Given the description of an element on the screen output the (x, y) to click on. 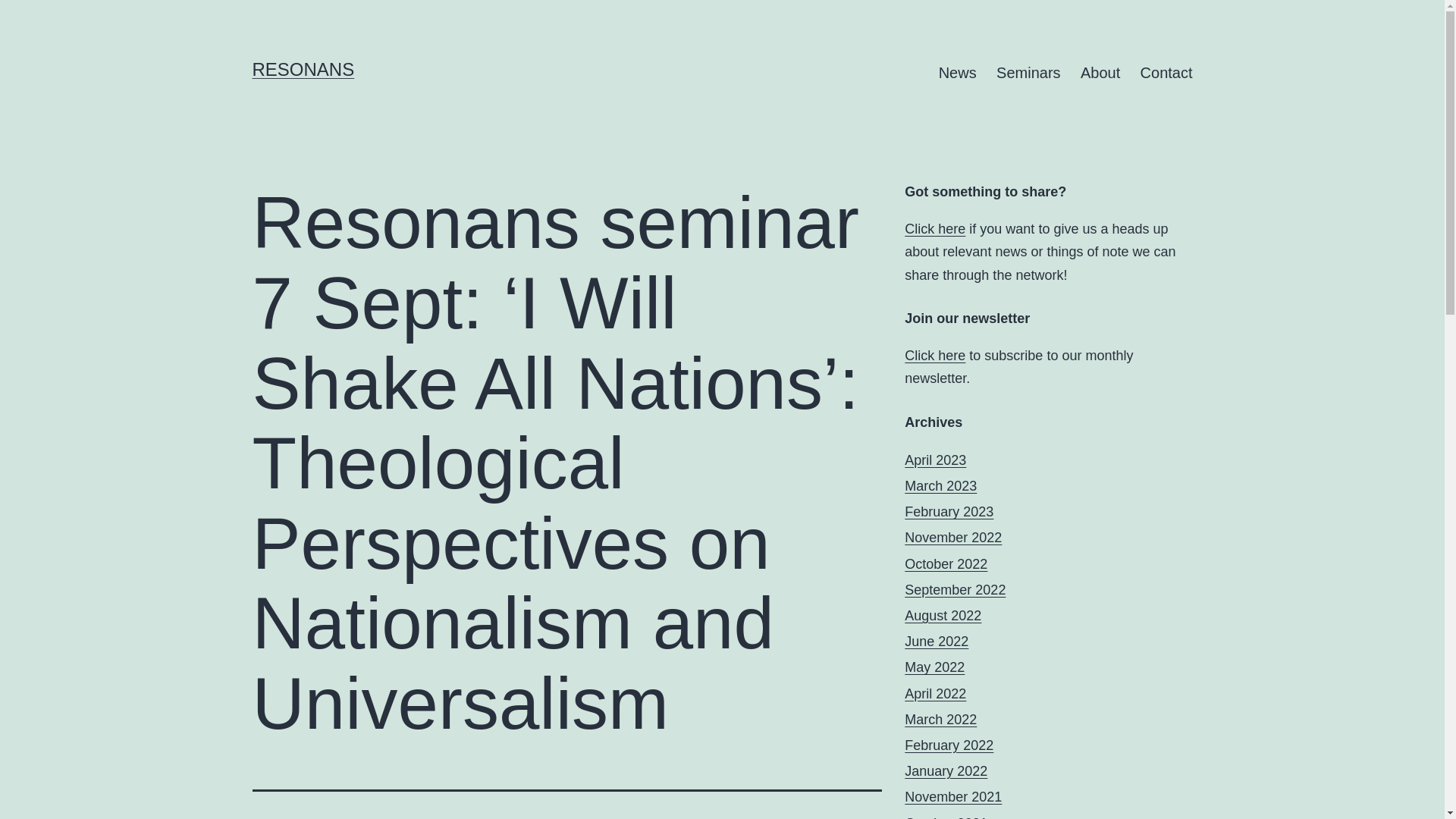
Contact (1165, 72)
February 2023 (948, 511)
January 2022 (945, 770)
News (956, 72)
Click here (934, 228)
March 2022 (940, 719)
October 2022 (945, 563)
February 2022 (948, 744)
March 2023 (940, 485)
About (1100, 72)
